Given the description of an element on the screen output the (x, y) to click on. 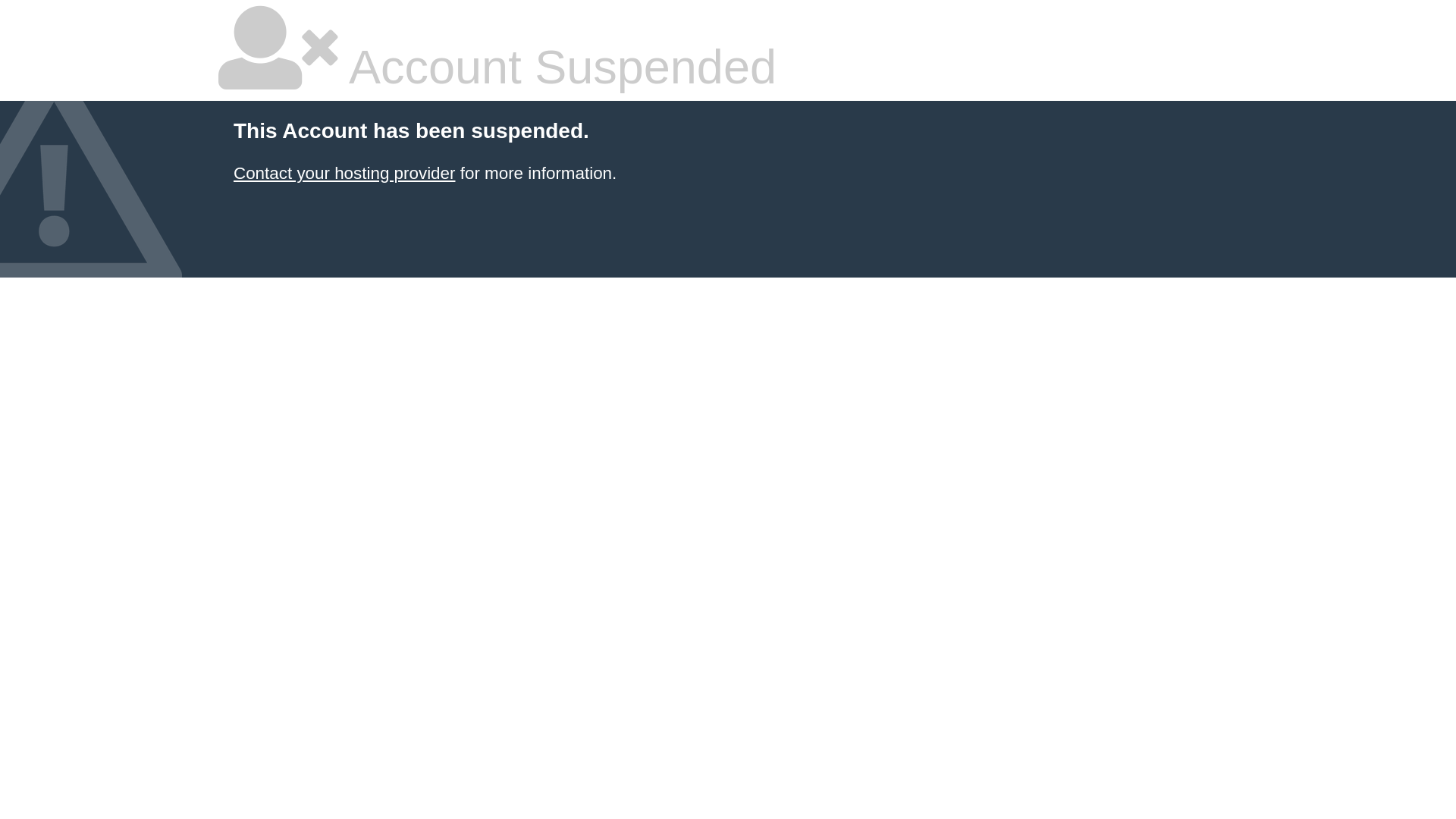
Contact your hosting provider Element type: text (344, 172)
